Given the description of an element on the screen output the (x, y) to click on. 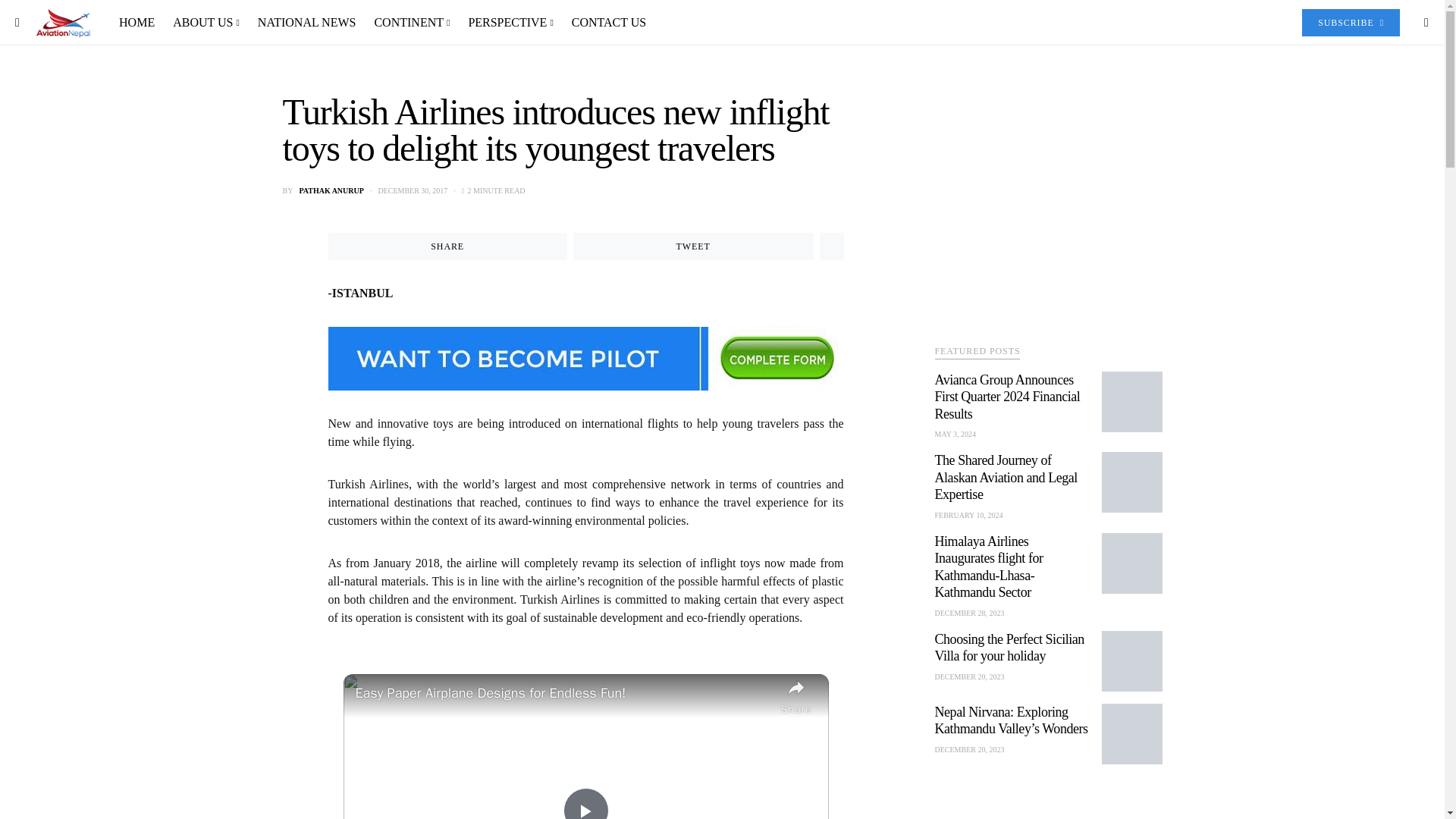
CONTINENT (411, 22)
Play Video (585, 803)
NATIONAL NEWS (306, 22)
PERSPECTIVE (510, 22)
SUBSCRIBE (1350, 22)
HOME (141, 22)
ABOUT US (205, 22)
View all posts by Pathak Anurup (330, 190)
PATHAK ANURUP (330, 190)
CONTACT US (604, 22)
